Given the description of an element on the screen output the (x, y) to click on. 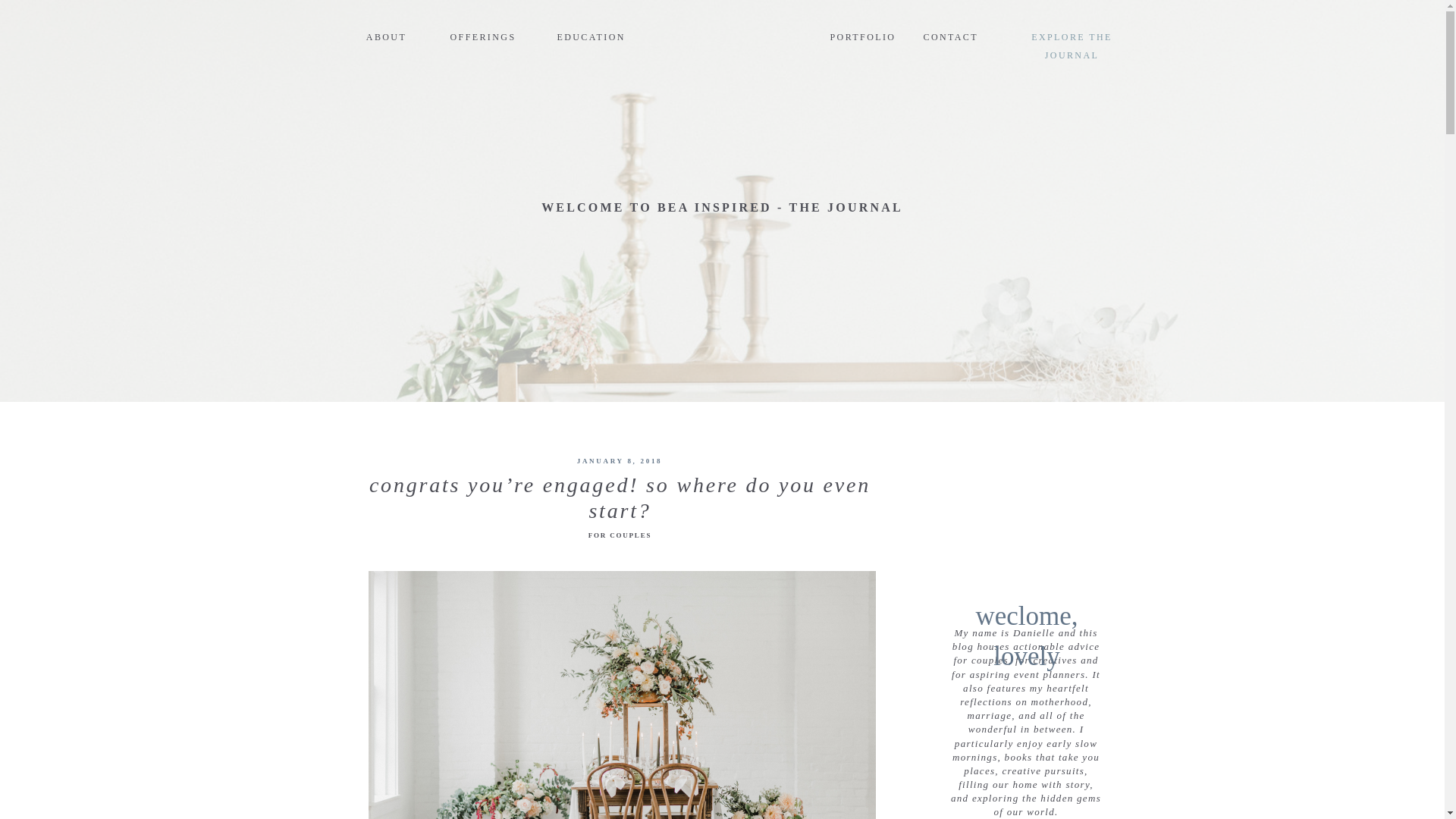
OFFERINGS (482, 33)
EDUCATION (586, 33)
PORTFOLIO (859, 33)
ABOUT (385, 33)
EXPLORE THE JOURNAL (1072, 33)
CONTACT (949, 33)
